Given the description of an element on the screen output the (x, y) to click on. 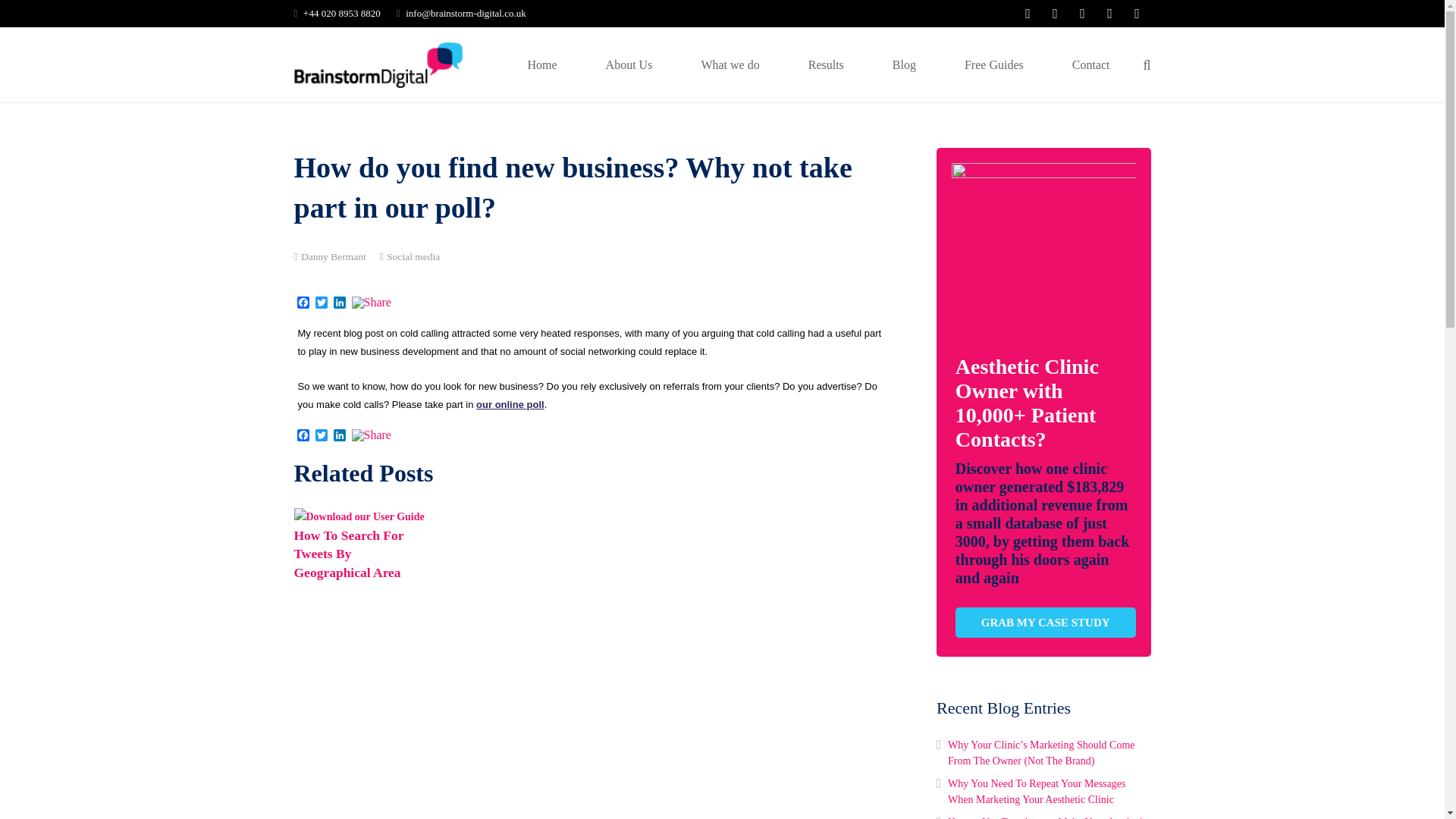
Twitter (321, 303)
Facebook (303, 436)
Facebook (303, 303)
Twitter (321, 436)
LinkedIn (339, 303)
How to search for tweets by geographical area (349, 553)
Contact (1091, 64)
LinkedIn (339, 436)
About Us (628, 64)
Twitter (321, 436)
